Given the description of an element on the screen output the (x, y) to click on. 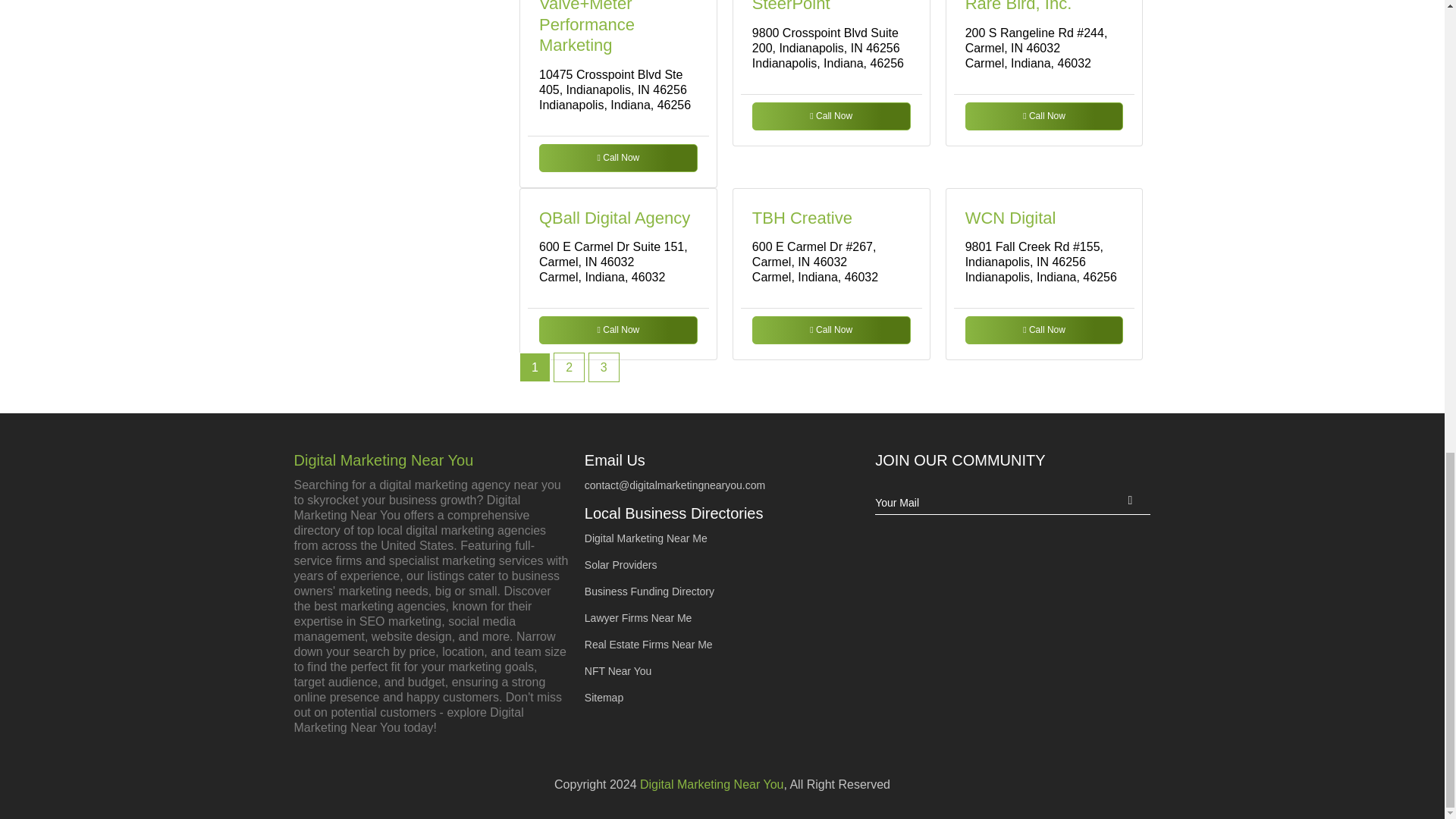
Solar Providers (621, 564)
Digital Marketing Near You (431, 460)
TBH Creative (801, 217)
Call Now (1044, 116)
Lawyer Firms Near Me (639, 617)
Digital Marketing Near Me (646, 538)
Rare Bird, Inc. (1018, 6)
SteerPoint (790, 6)
2 (569, 367)
Call Now (1044, 329)
